Given the description of an element on the screen output the (x, y) to click on. 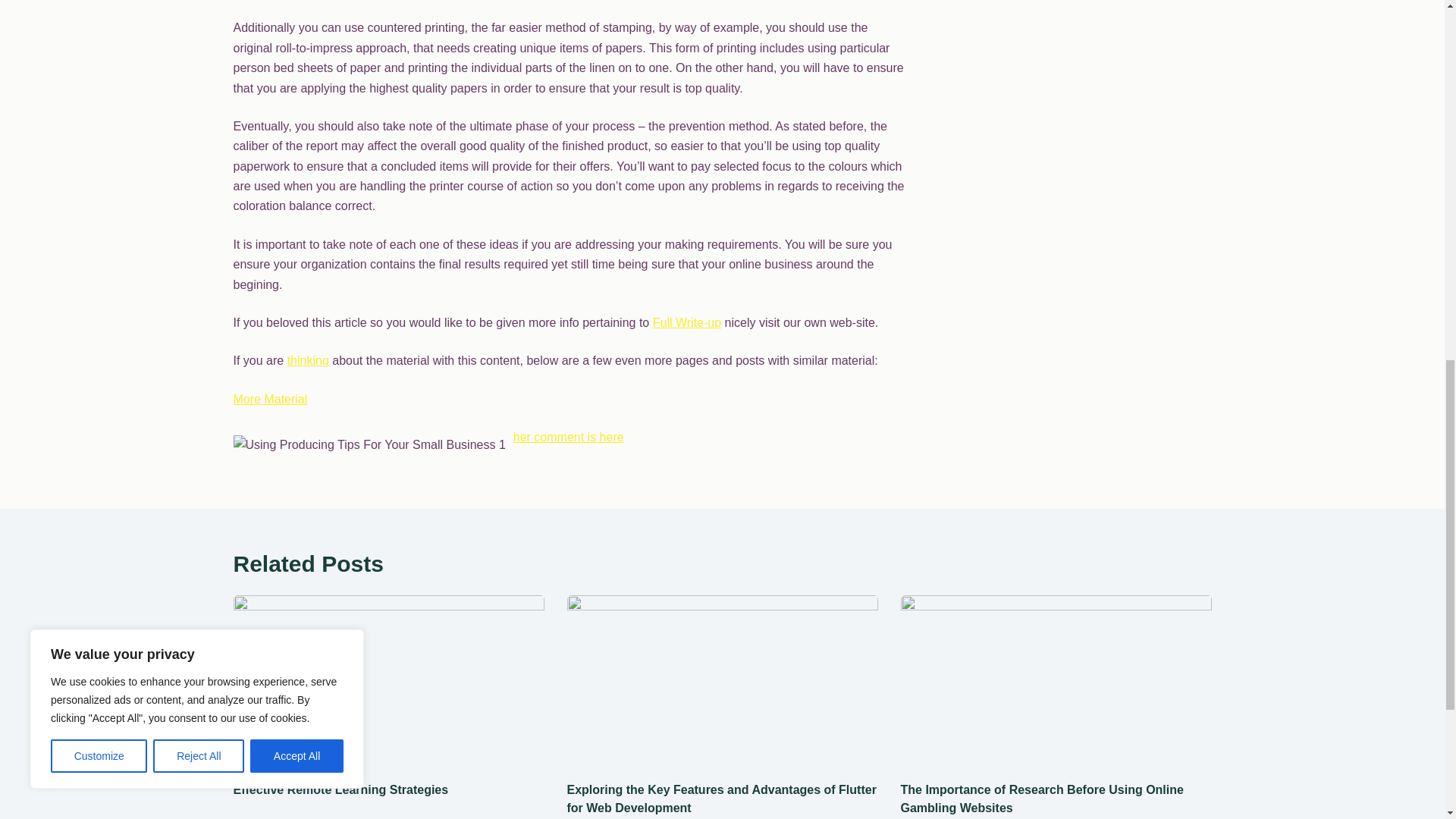
Full Write-up (686, 322)
More Material (269, 399)
thinking (307, 359)
her comment is here (568, 436)
